Given the description of an element on the screen output the (x, y) to click on. 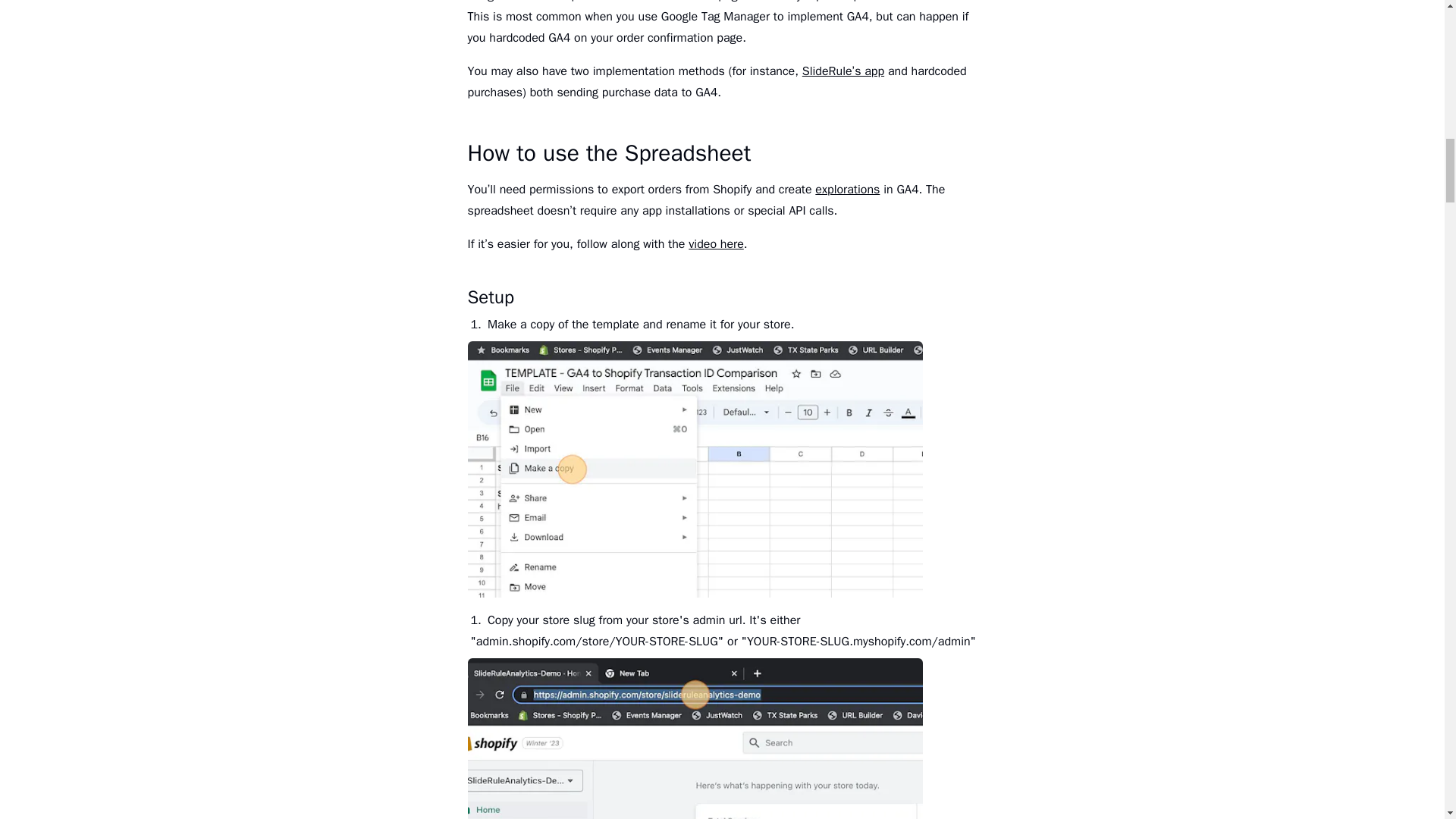
the template (605, 324)
video here (716, 243)
explorations (847, 189)
